Given the description of an element on the screen output the (x, y) to click on. 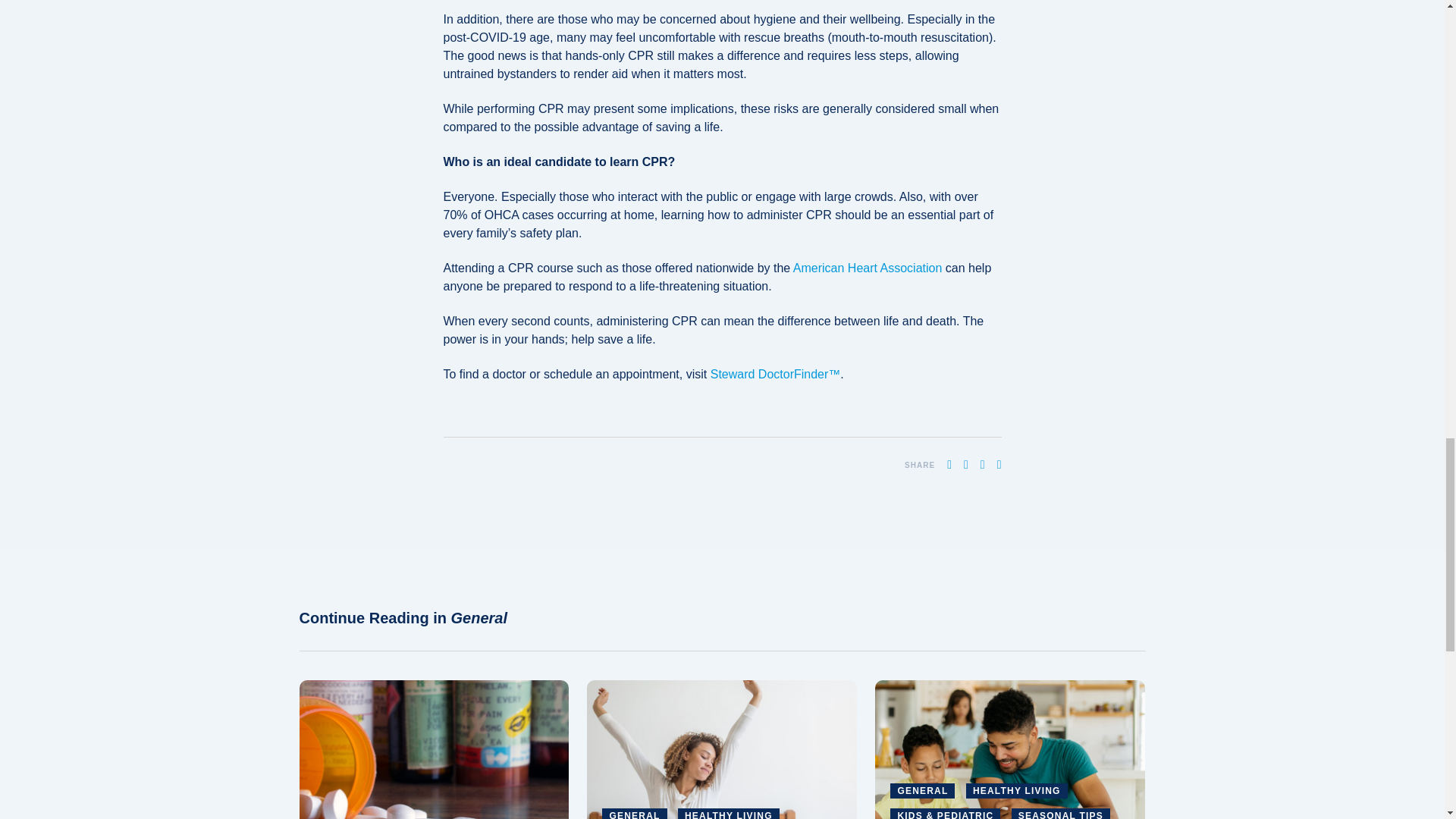
HEALTHY LIVING (728, 813)
GENERAL (634, 813)
SEASONAL TIPS (1060, 813)
HEALTHY LIVING (1016, 790)
GENERAL (922, 790)
American Heart Association (867, 267)
